Given the description of an element on the screen output the (x, y) to click on. 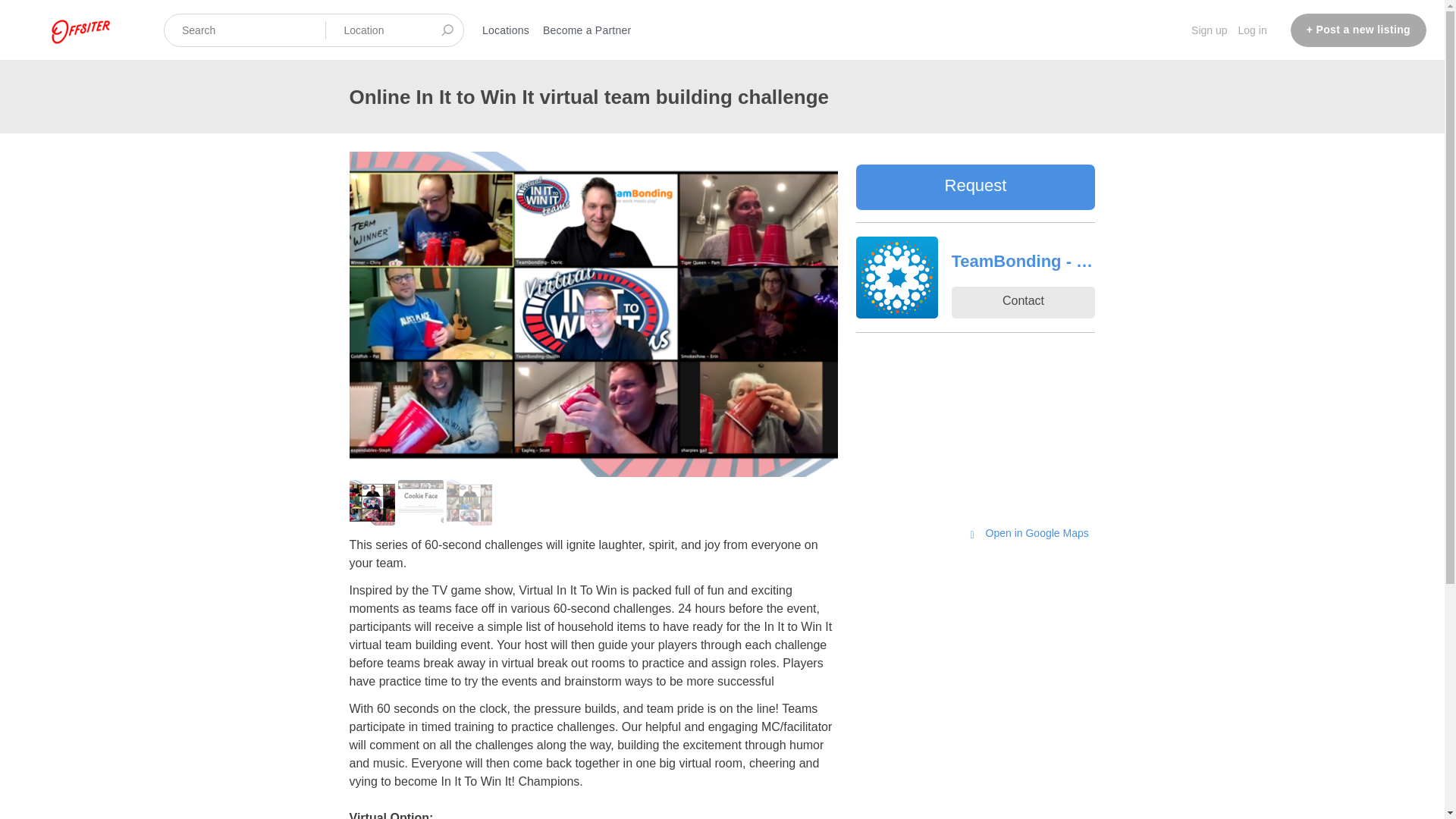
Open in Google Maps (1028, 533)
Request (975, 186)
Become a Partner (586, 30)
Post a new listing (1358, 29)
TeamBonding - Like Team Building, Only Better! (1022, 261)
Contact (1022, 302)
TeamBonding - Like Team Building, Only Better! (1022, 261)
Locations (505, 30)
